Given the description of an element on the screen output the (x, y) to click on. 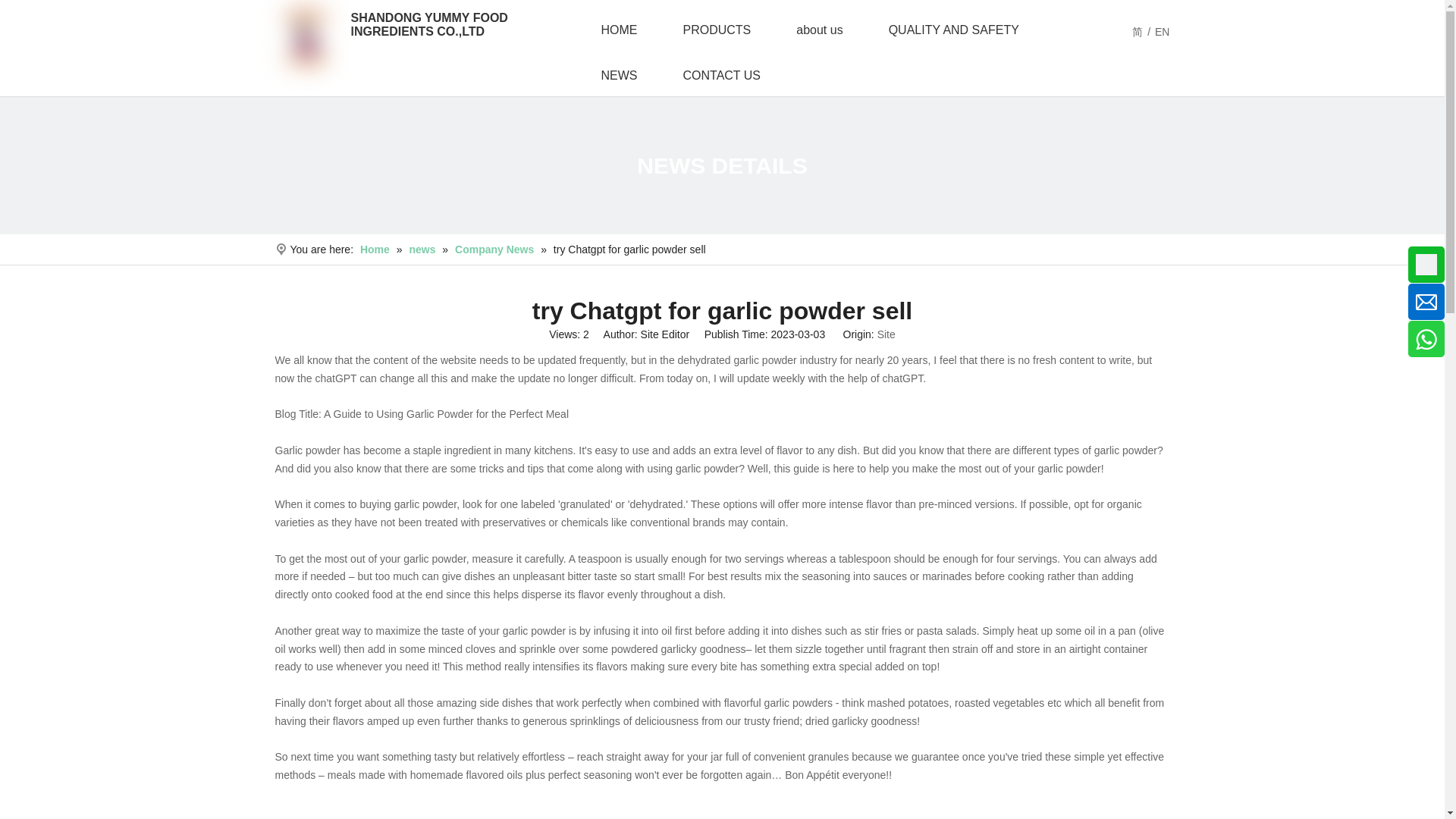
about us (818, 30)
Shandong Haode Food Co., Ltd. (304, 37)
Linkedin (10, 278)
PRODUCTS (716, 30)
news (423, 249)
QUALITY AND SAFETY (954, 30)
CONTACT US (721, 75)
NEWS (618, 75)
Home (376, 249)
Youtube (10, 323)
HOME (618, 30)
Twitter (10, 301)
Facebook (10, 255)
